Given the description of an element on the screen output the (x, y) to click on. 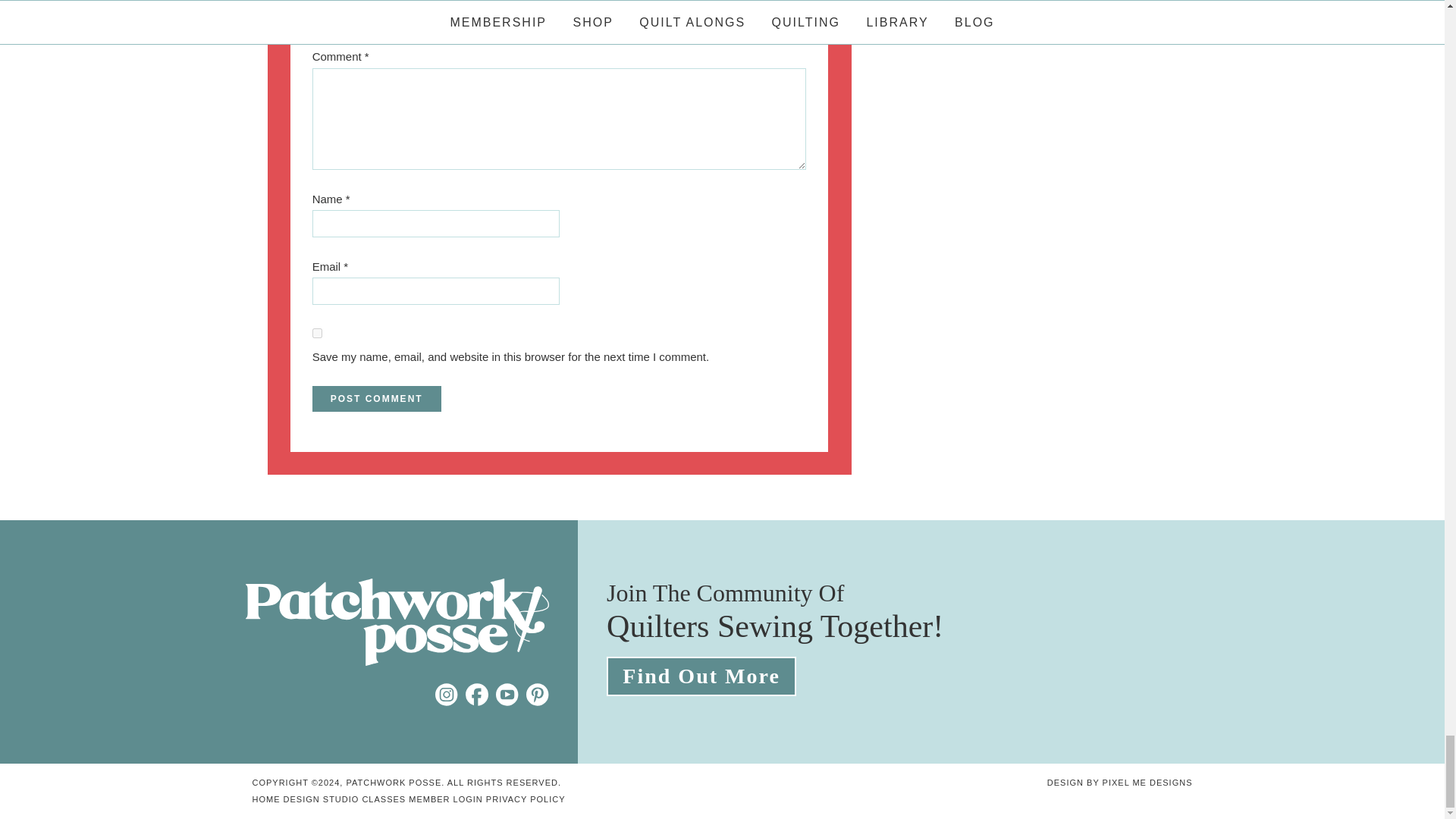
Post Comment (377, 398)
yes (317, 333)
